Given the description of an element on the screen output the (x, y) to click on. 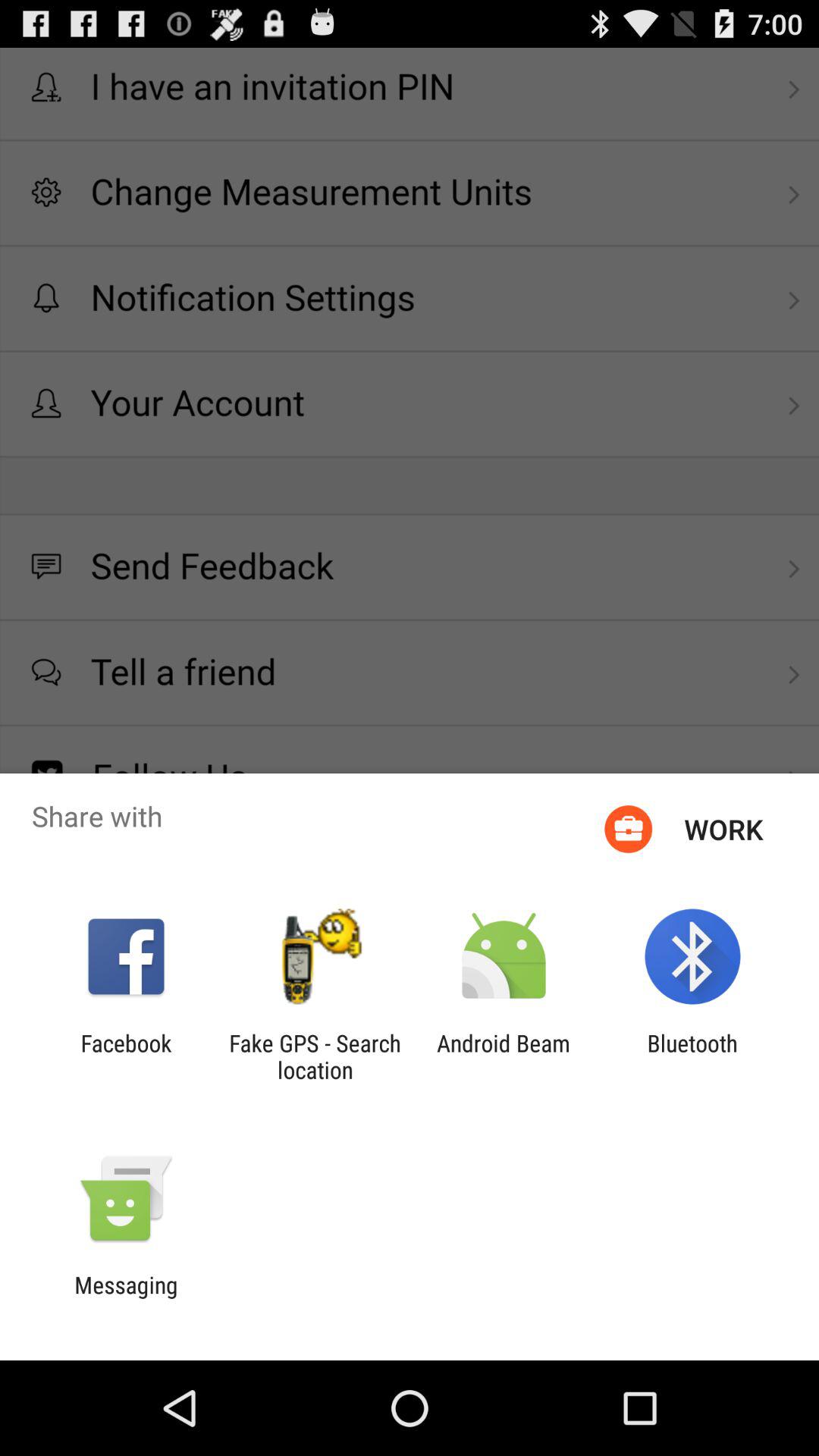
turn off the icon next to the fake gps search item (125, 1056)
